Given the description of an element on the screen output the (x, y) to click on. 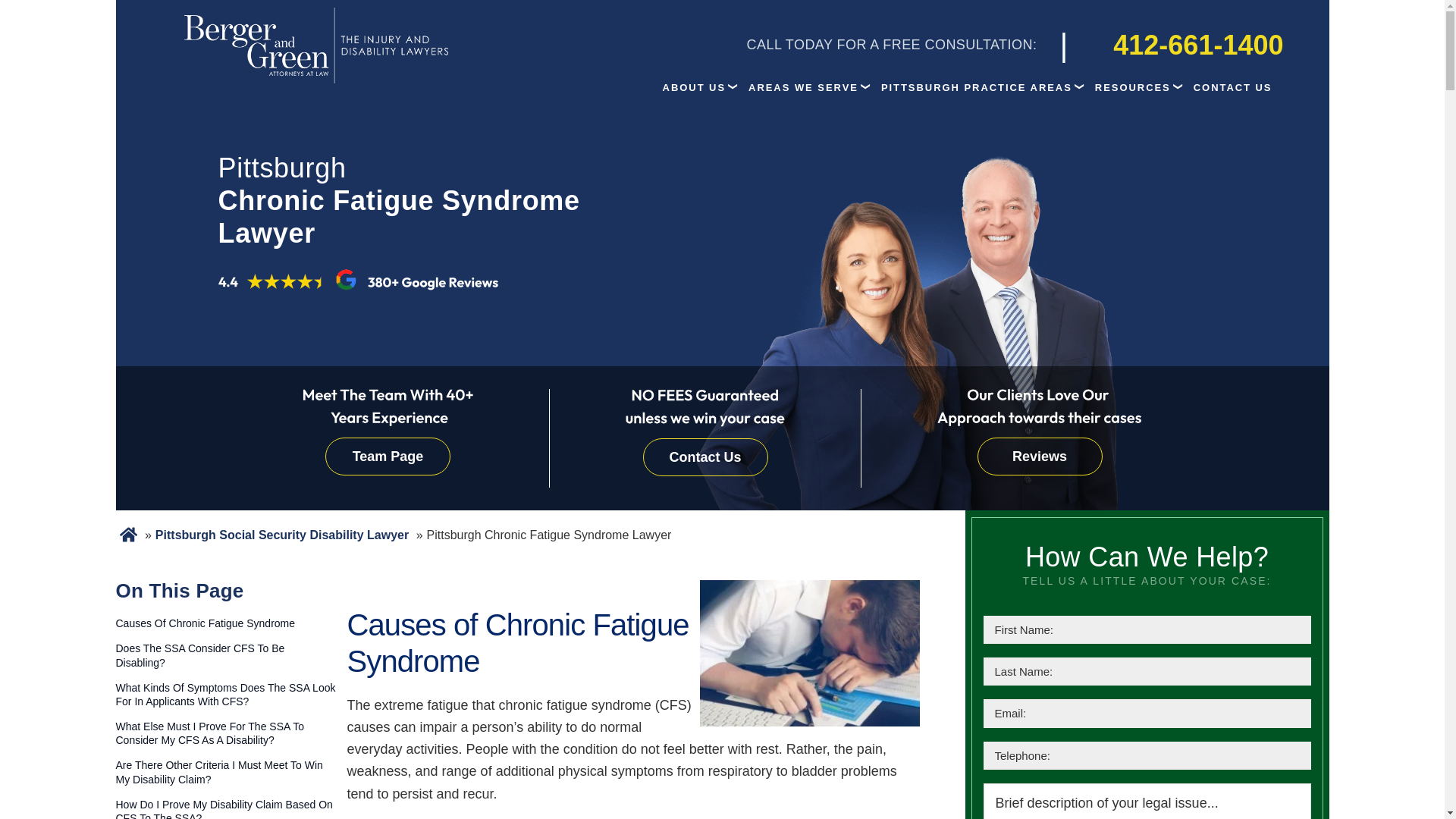
AREAS WE SERVE (802, 87)
PITTSBURGH PRACTICE AREAS (976, 87)
How Do I Prove My Disability Claim Based On CFS To The SSA? (224, 808)
ABOUT US (694, 87)
Causes Of Chronic Fatigue Syndrome (224, 622)
Does The SSA Consider CFS To Be Disabling? (224, 655)
